Given the description of an element on the screen output the (x, y) to click on. 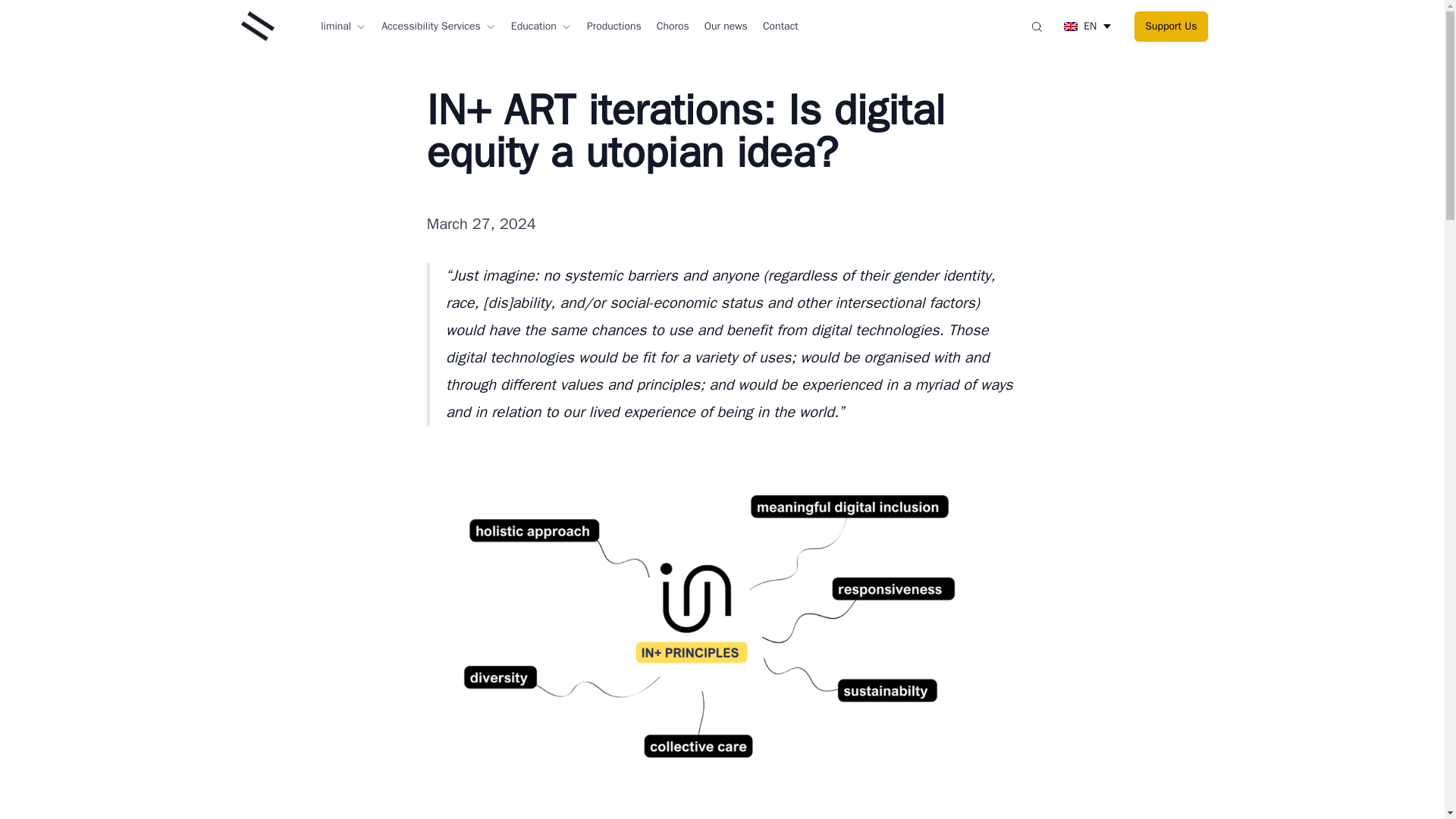
liminal (343, 26)
Liminal (256, 25)
EN (1088, 26)
Contact (779, 26)
Choros (672, 26)
Our news (726, 26)
Accessibility Services (438, 26)
Education (541, 26)
Productions (614, 26)
Support Us (1170, 26)
